Given the description of an element on the screen output the (x, y) to click on. 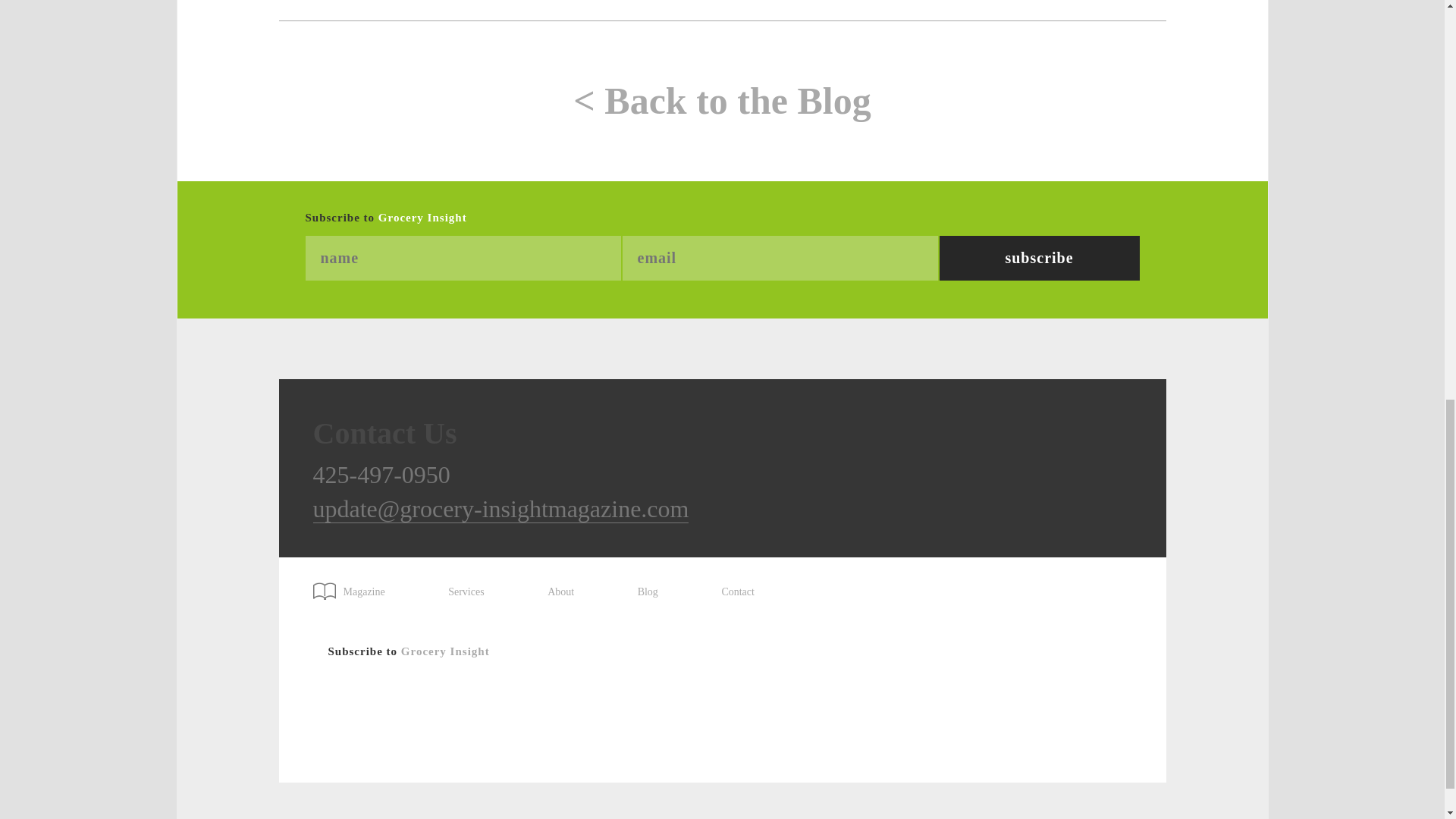
Magazine (355, 586)
Subscribe (1038, 257)
About (560, 592)
Services (465, 592)
Contact (737, 592)
Blog (647, 592)
Subscribe (1038, 257)
